Given the description of an element on the screen output the (x, y) to click on. 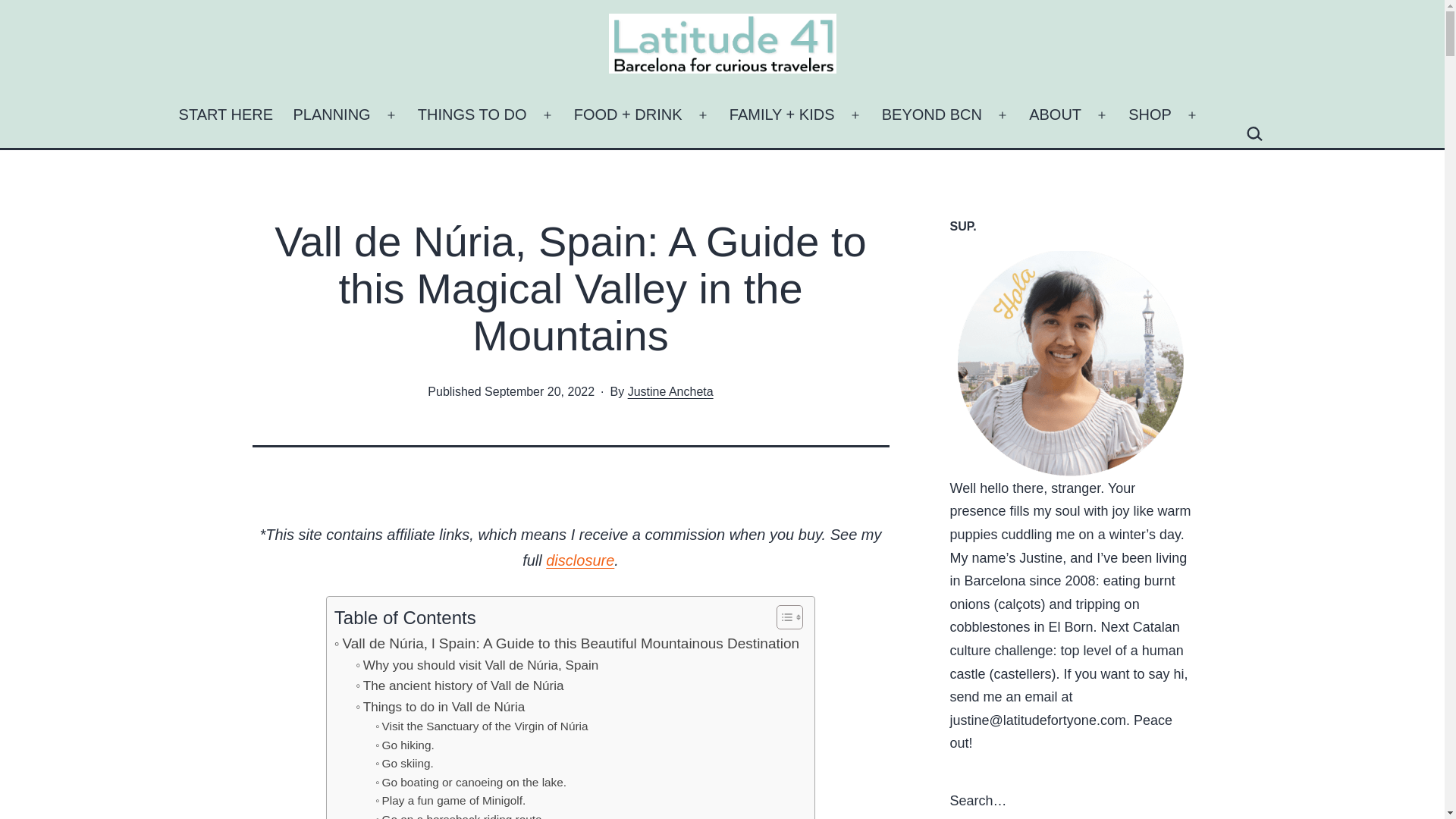
Play a fun game of Minigolf. (450, 800)
Go skiing. (404, 763)
Go on a horseback riding route. (459, 814)
THINGS TO DO (472, 115)
START HERE (225, 115)
Go boating or canoeing on the lake. (470, 782)
Go hiking. (404, 745)
PLANNING (331, 115)
